Given the description of an element on the screen output the (x, y) to click on. 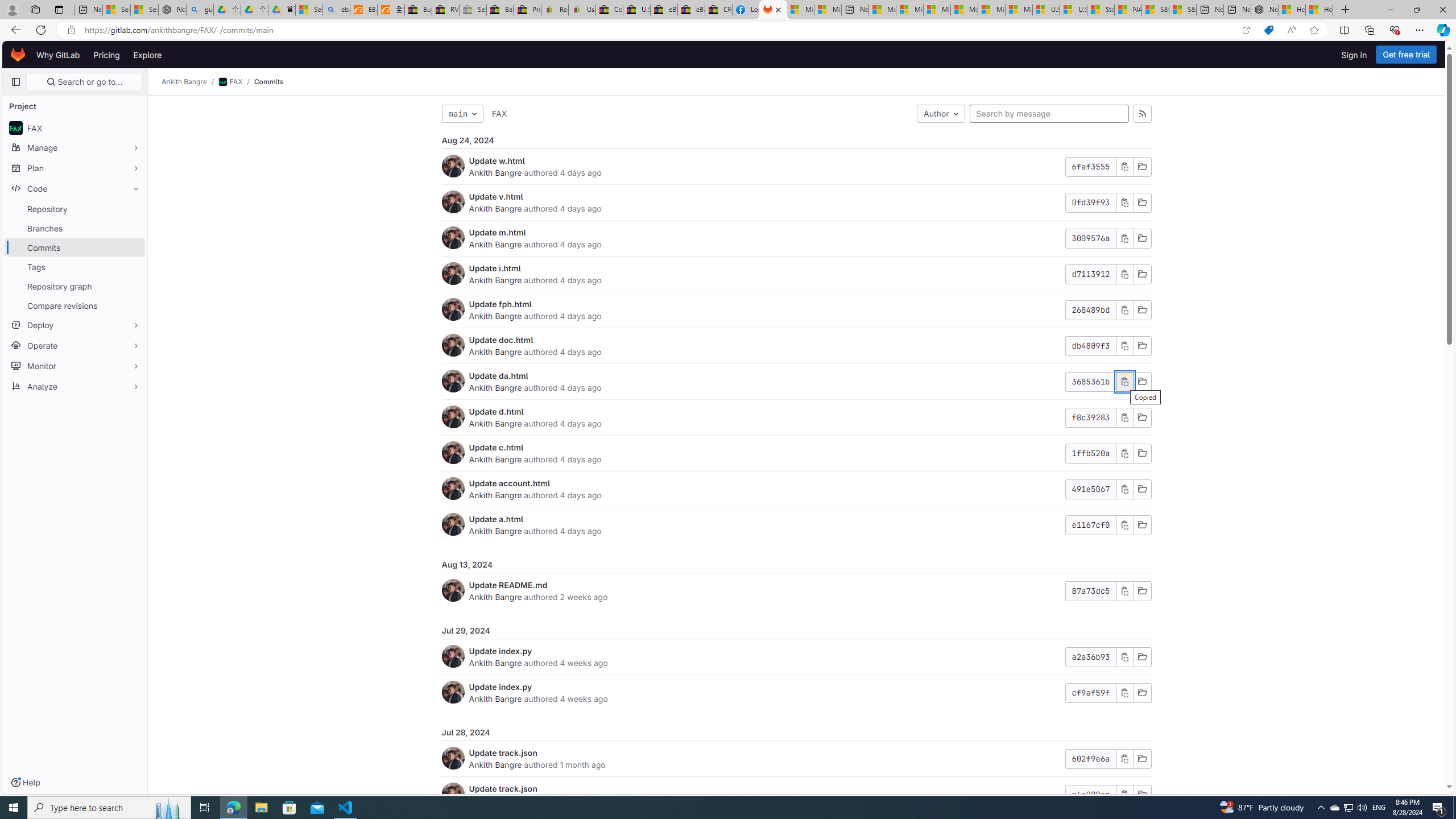
Plan (74, 167)
Update i.htmlAnkith Bangre authored 4 days agod7113912 (796, 274)
Monitor (74, 365)
Update v.html (495, 196)
Tags (74, 266)
Update v.htmlAnkith Bangre authored 4 days ago0fd39f93 (796, 202)
Branches (74, 227)
Aug 24, 2024 (796, 140)
Register: Create a personal eBay account (554, 9)
Aug 13, 2024 (796, 564)
